Given the description of an element on the screen output the (x, y) to click on. 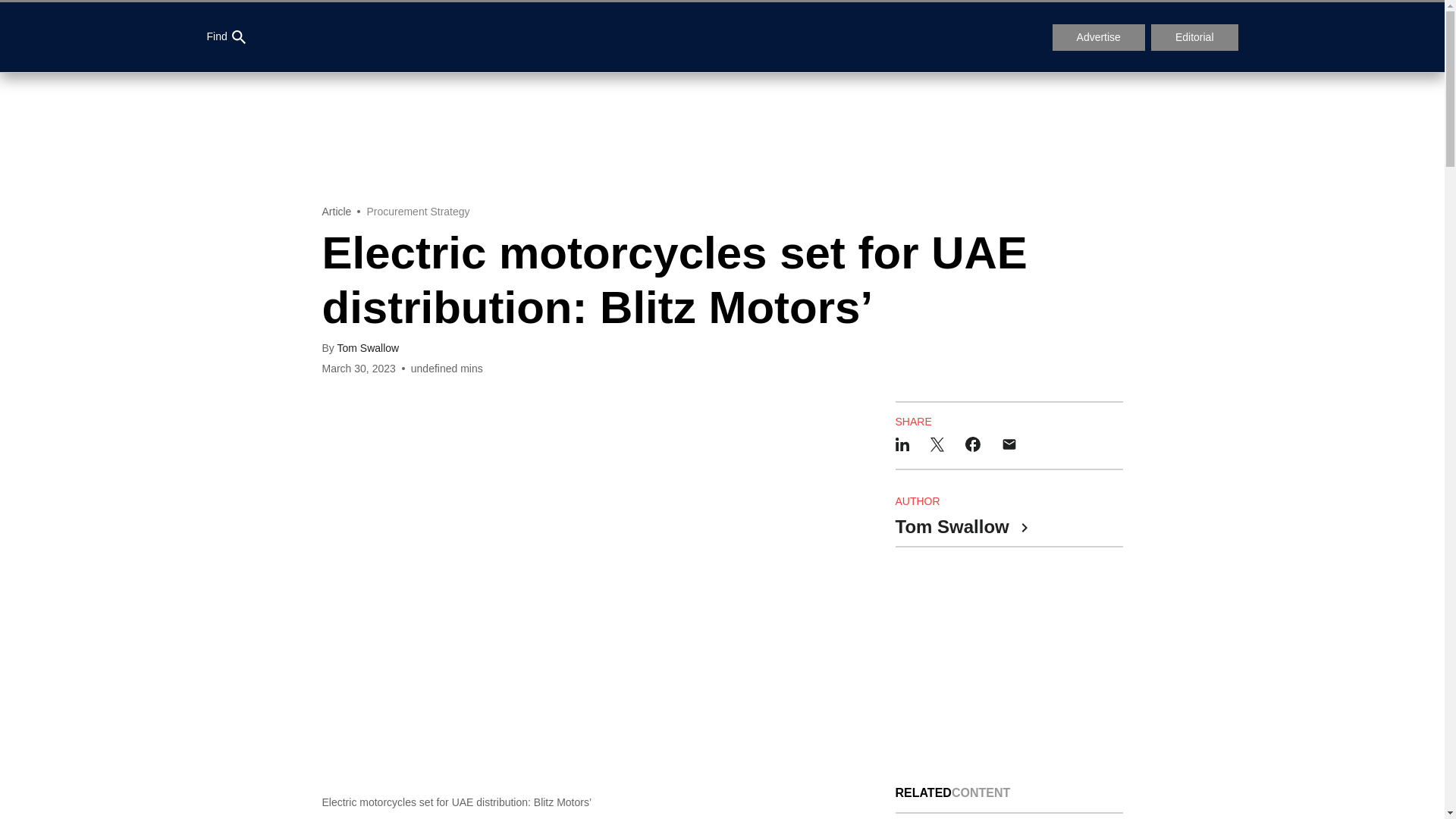
Editorial (1195, 37)
Advertise (1098, 37)
Find (225, 37)
Tom Swallow (367, 347)
Tom Swallow (960, 527)
